Given the description of an element on the screen output the (x, y) to click on. 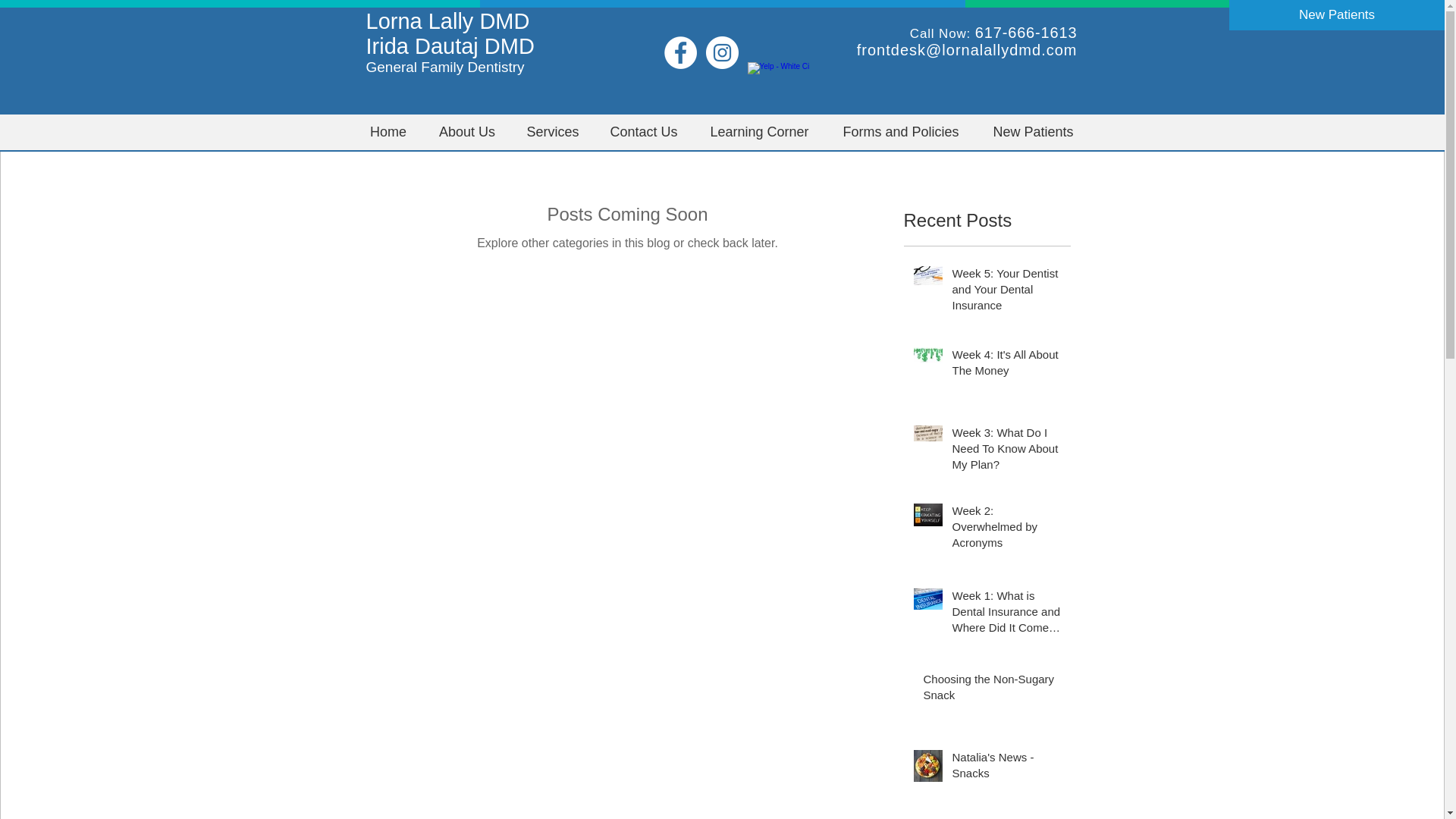
New Patients (1033, 131)
Natalia's News - Snacks (1006, 768)
Choosing the Non-Sugary Snack (992, 689)
Week 1: What is Dental Insurance and Where Did It Come From? (1006, 614)
Learning Corner (759, 131)
Week 4: It's All About The Money (1006, 365)
617-666-1613 (1026, 32)
About Us (467, 131)
Week 2: Overwhelmed by Acronyms (1006, 529)
Week 3: What Do I Need To Know About My Plan? (1006, 451)
Home (387, 131)
Contact Us (644, 131)
Forms and Policies (900, 131)
Services (552, 131)
Week 5: Your Dentist and Your Dental Insurance (1006, 292)
